Given the description of an element on the screen output the (x, y) to click on. 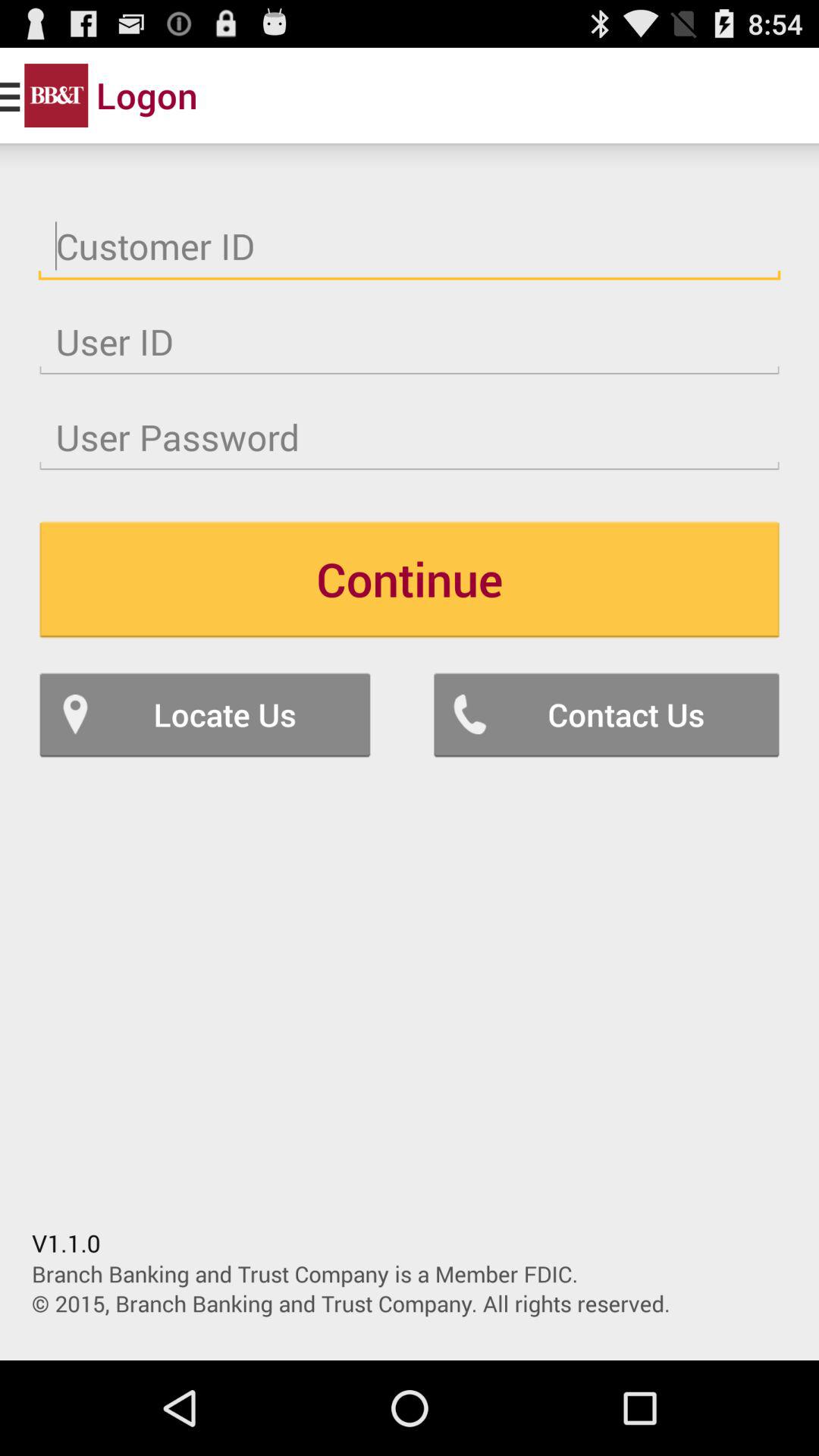
press icon below continue icon (204, 714)
